Given the description of an element on the screen output the (x, y) to click on. 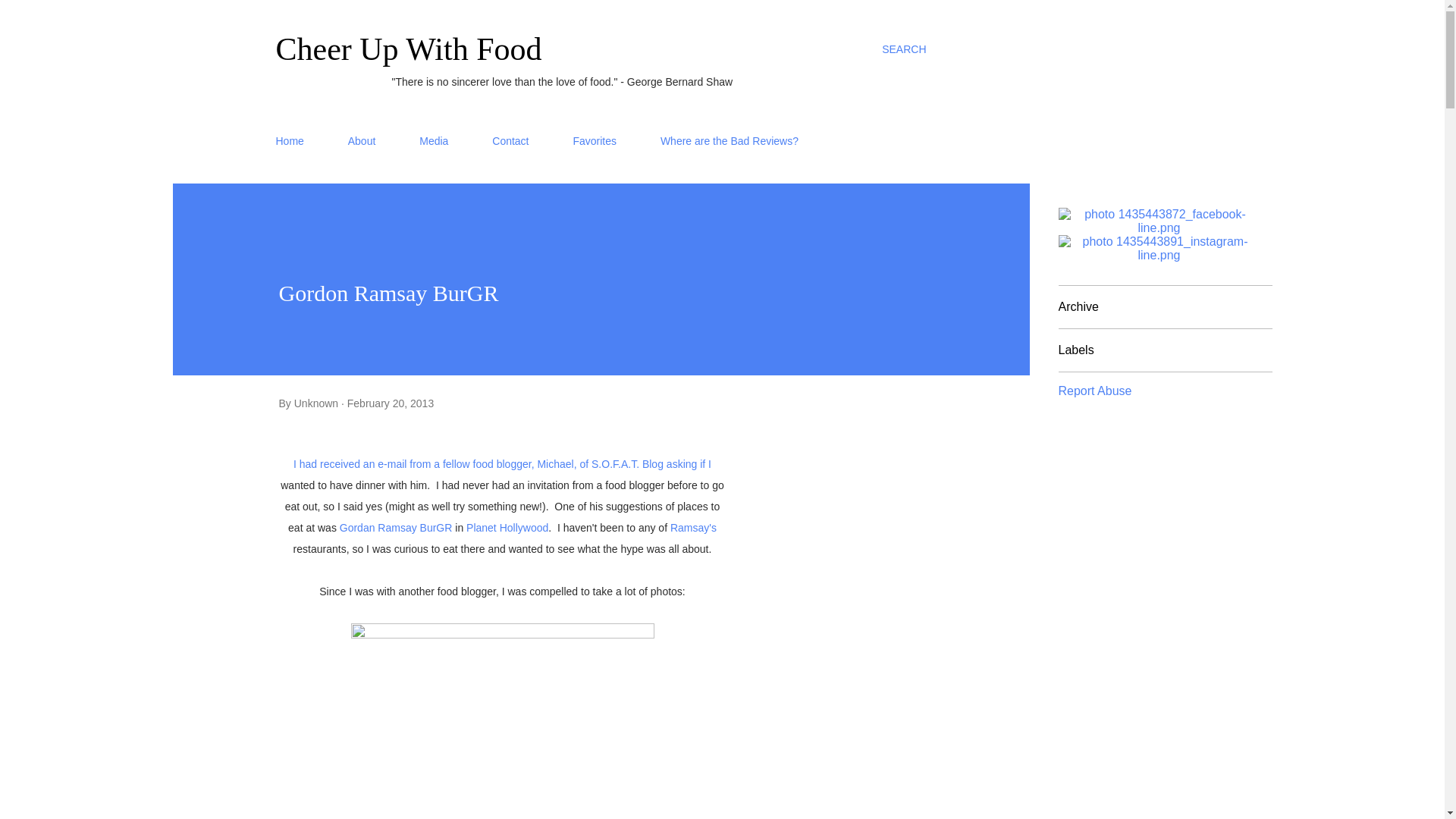
Contact (510, 141)
Ramsay's (692, 527)
About (362, 141)
Media (433, 141)
Planet Hollywood (506, 527)
Favorites (594, 141)
Home (294, 141)
Gordan Ramsay BurGR (395, 527)
February 20, 2013 (390, 403)
permanent link (390, 403)
